Given the description of an element on the screen output the (x, y) to click on. 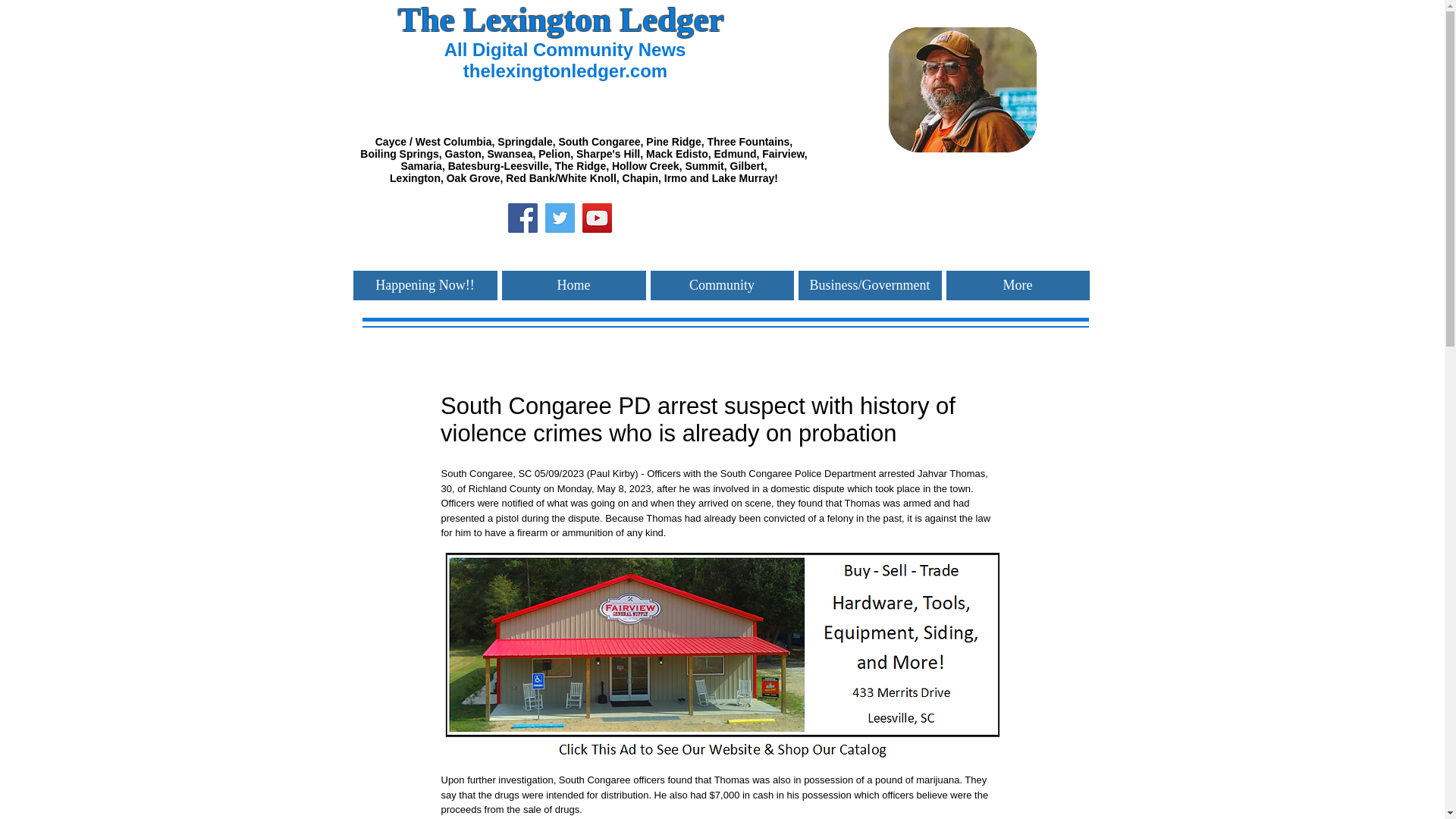
Happening Now!! (425, 285)
Home (574, 285)
Community (721, 285)
